Given the description of an element on the screen output the (x, y) to click on. 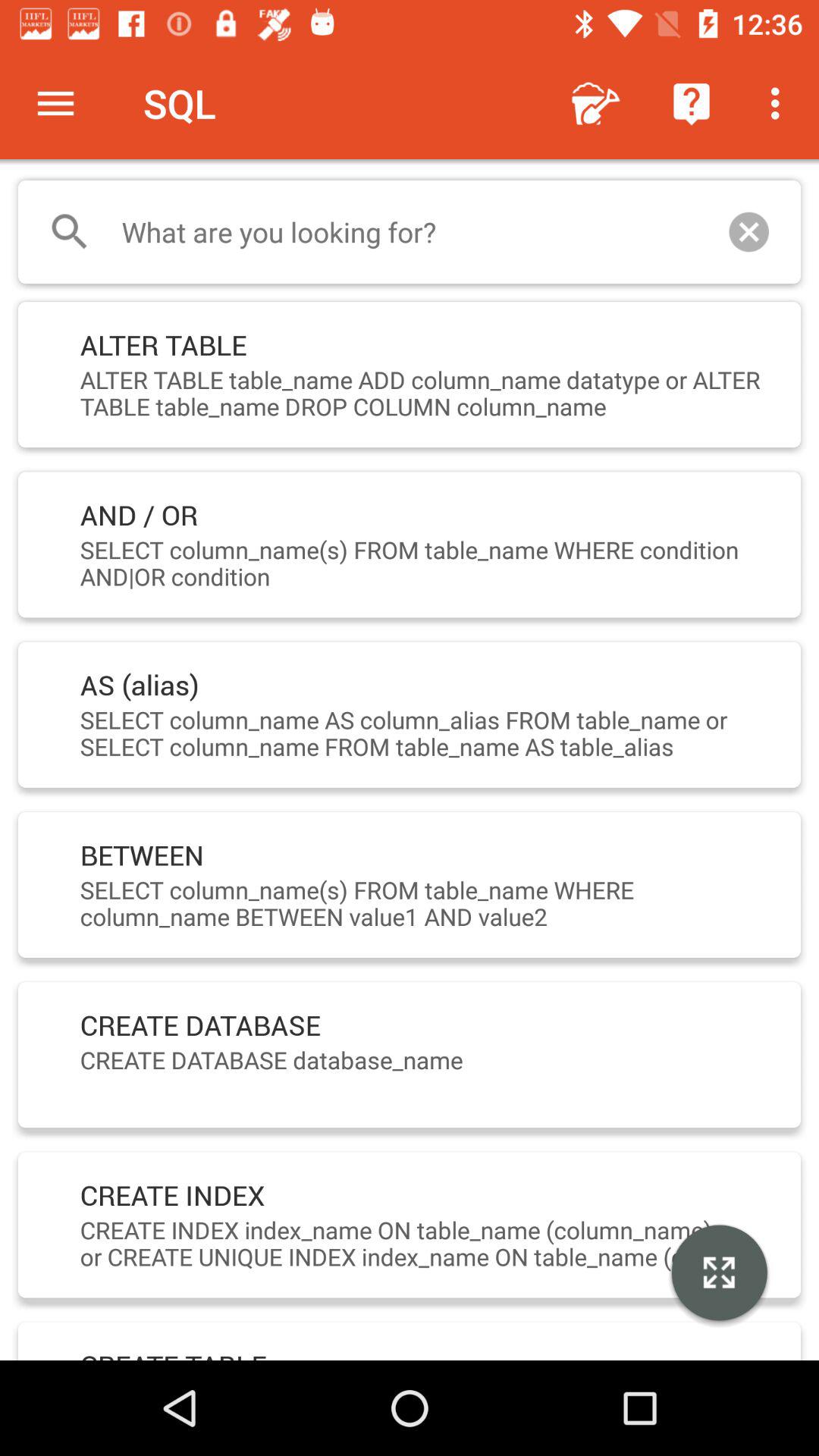
press the icon below select column_name s icon (719, 1274)
